Given the description of an element on the screen output the (x, y) to click on. 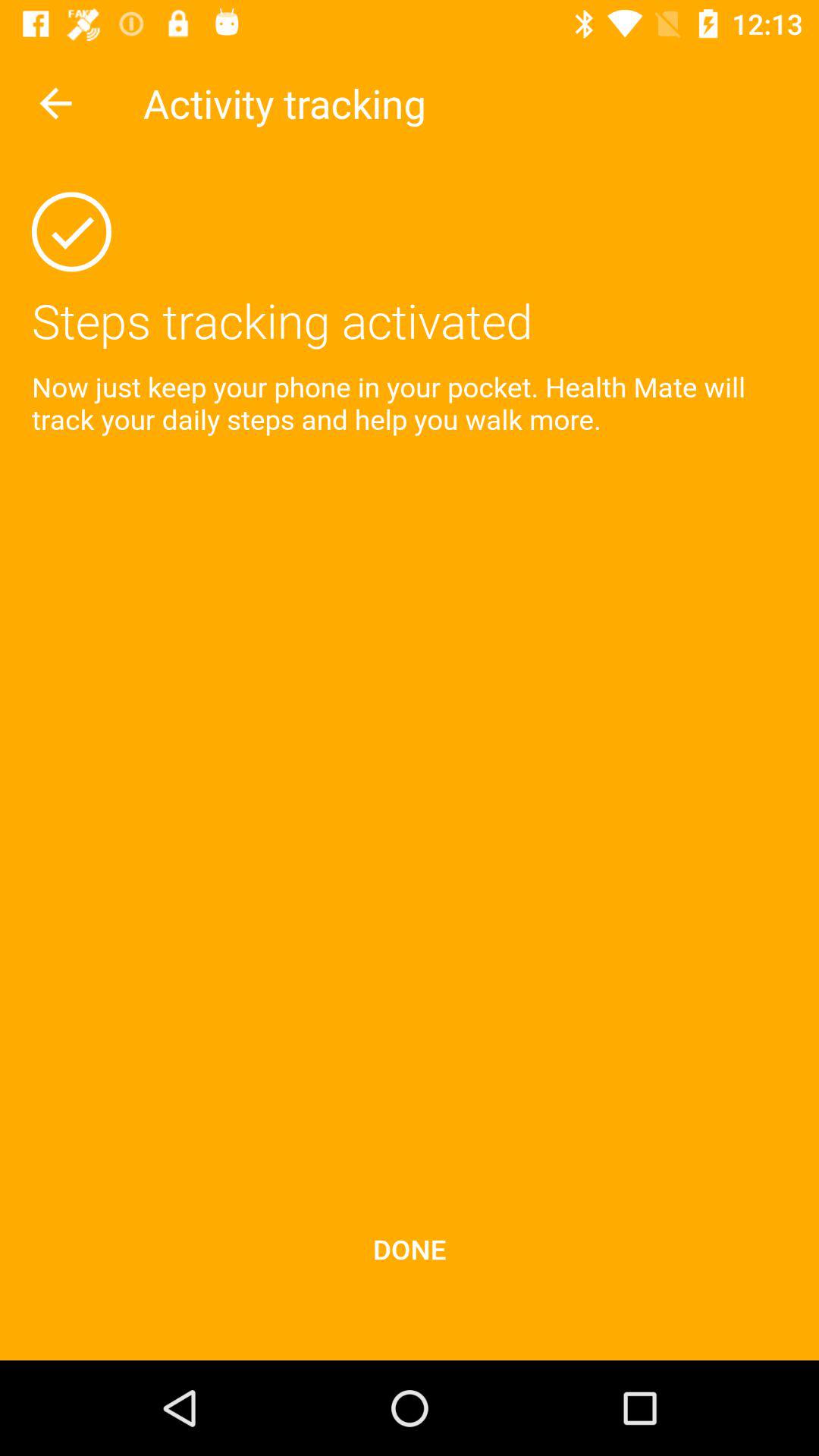
go back (55, 103)
